Given the description of an element on the screen output the (x, y) to click on. 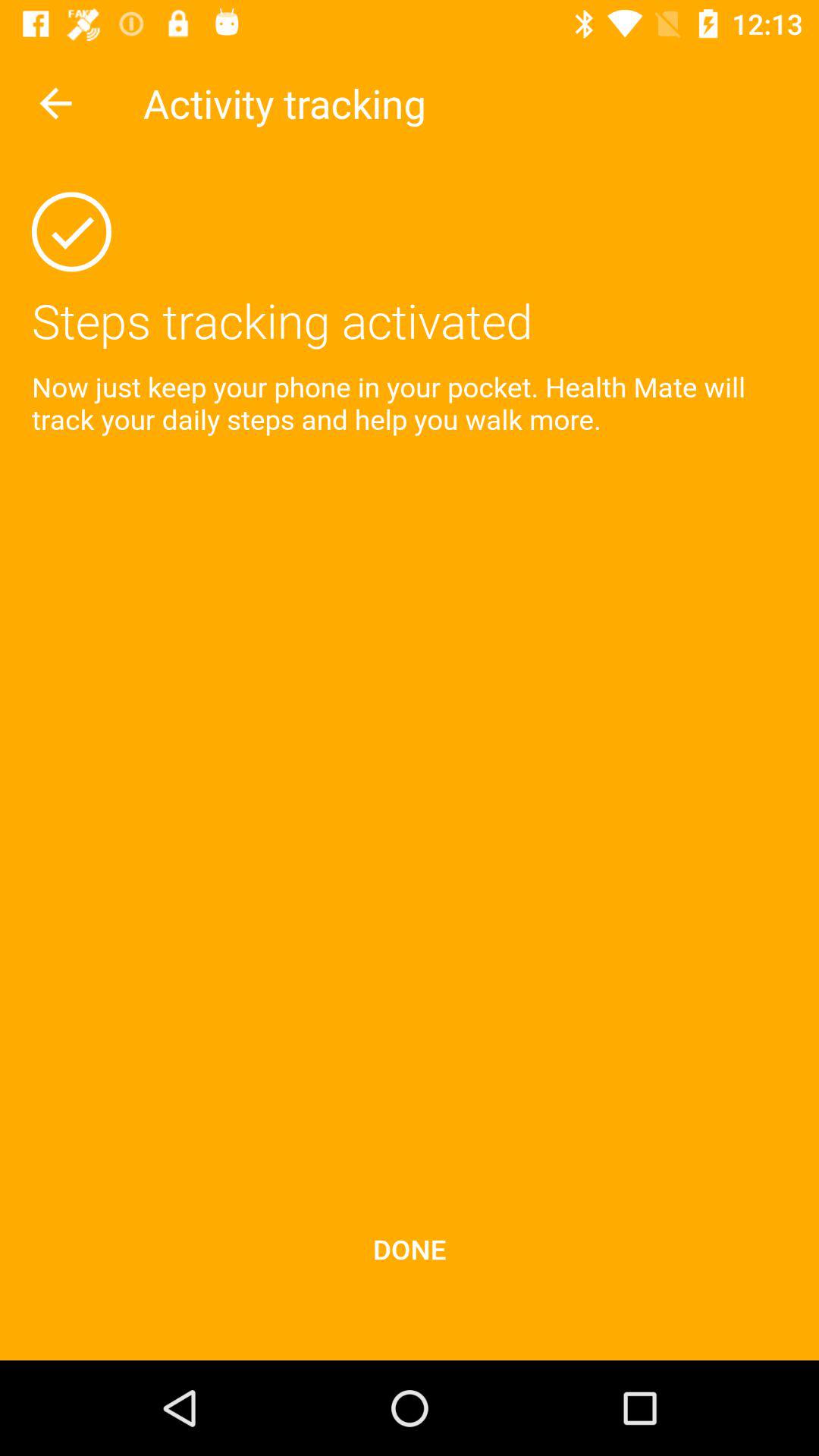
go back (55, 103)
